Given the description of an element on the screen output the (x, y) to click on. 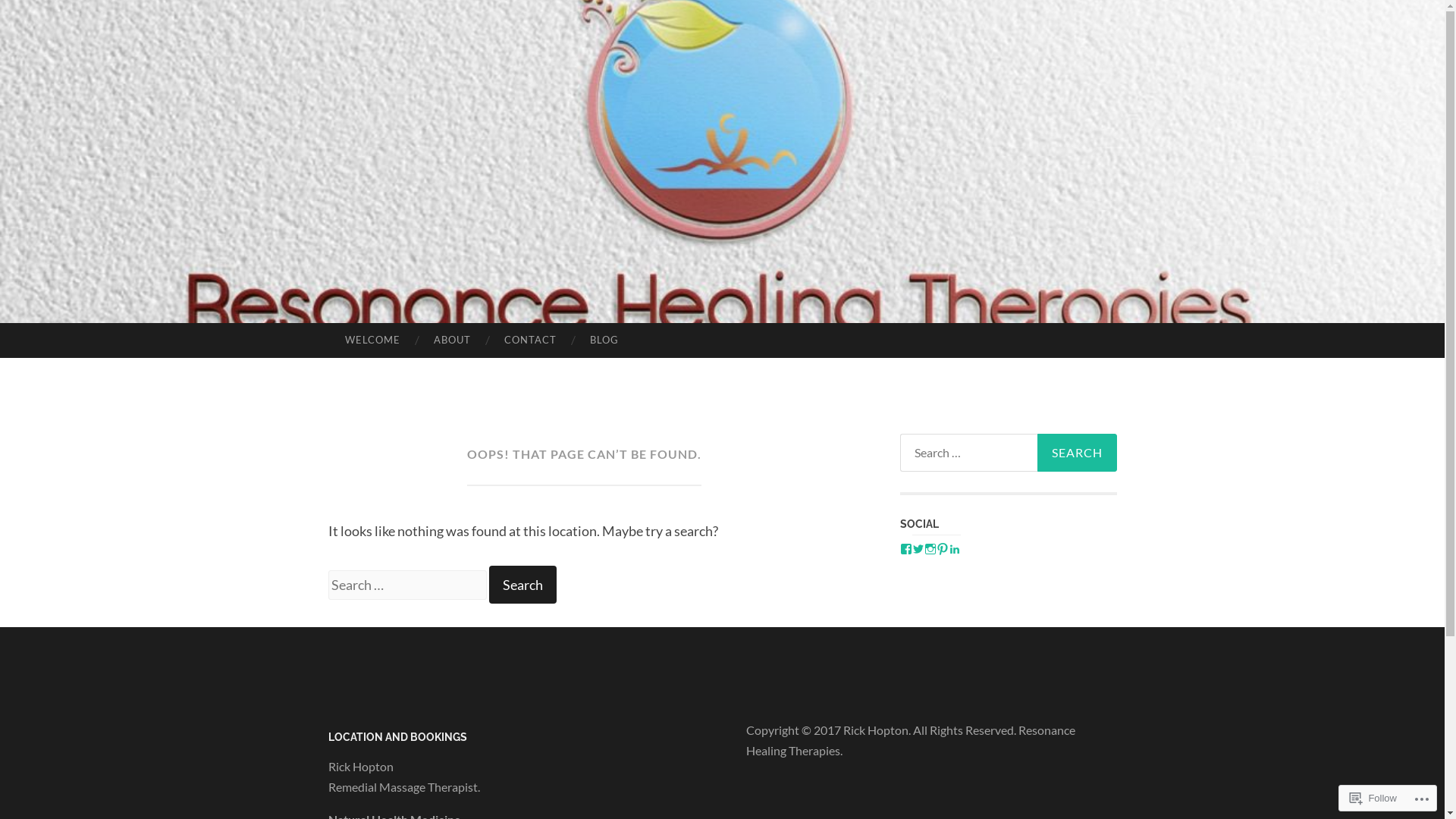
WELCOME Element type: text (371, 340)
Search Element type: text (1077, 452)
CONTACT Element type: text (530, 340)
Follow Element type: text (1372, 797)
RESONANCE HEALING THERAPIES Element type: text (768, 399)
Search Element type: text (521, 584)
BLOG Element type: text (604, 340)
ABOUT Element type: text (452, 340)
